Given the description of an element on the screen output the (x, y) to click on. 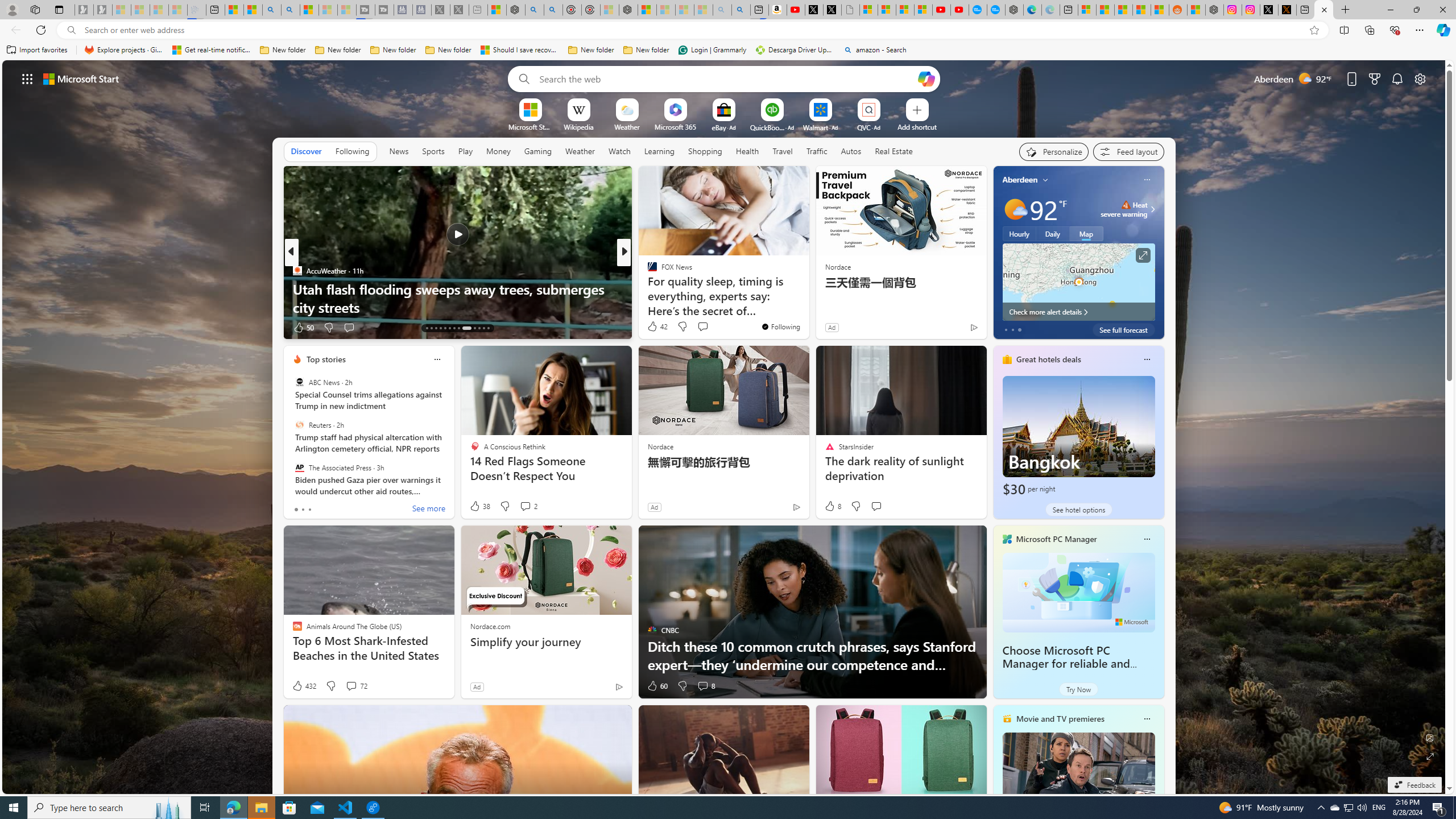
View comments 8 Comment (705, 685)
Shopping (705, 151)
Bangkok (1077, 436)
Add a site (916, 126)
Feed settings (1128, 151)
Shanghai, China hourly forecast | Microsoft Weather (1123, 9)
AutomationID: tab-20 (458, 328)
tab-2 (309, 509)
Mostly sunny (1014, 208)
Top stories (325, 359)
Movie and TV premieres (1060, 718)
AccuWeather (296, 270)
